Given the description of an element on the screen output the (x, y) to click on. 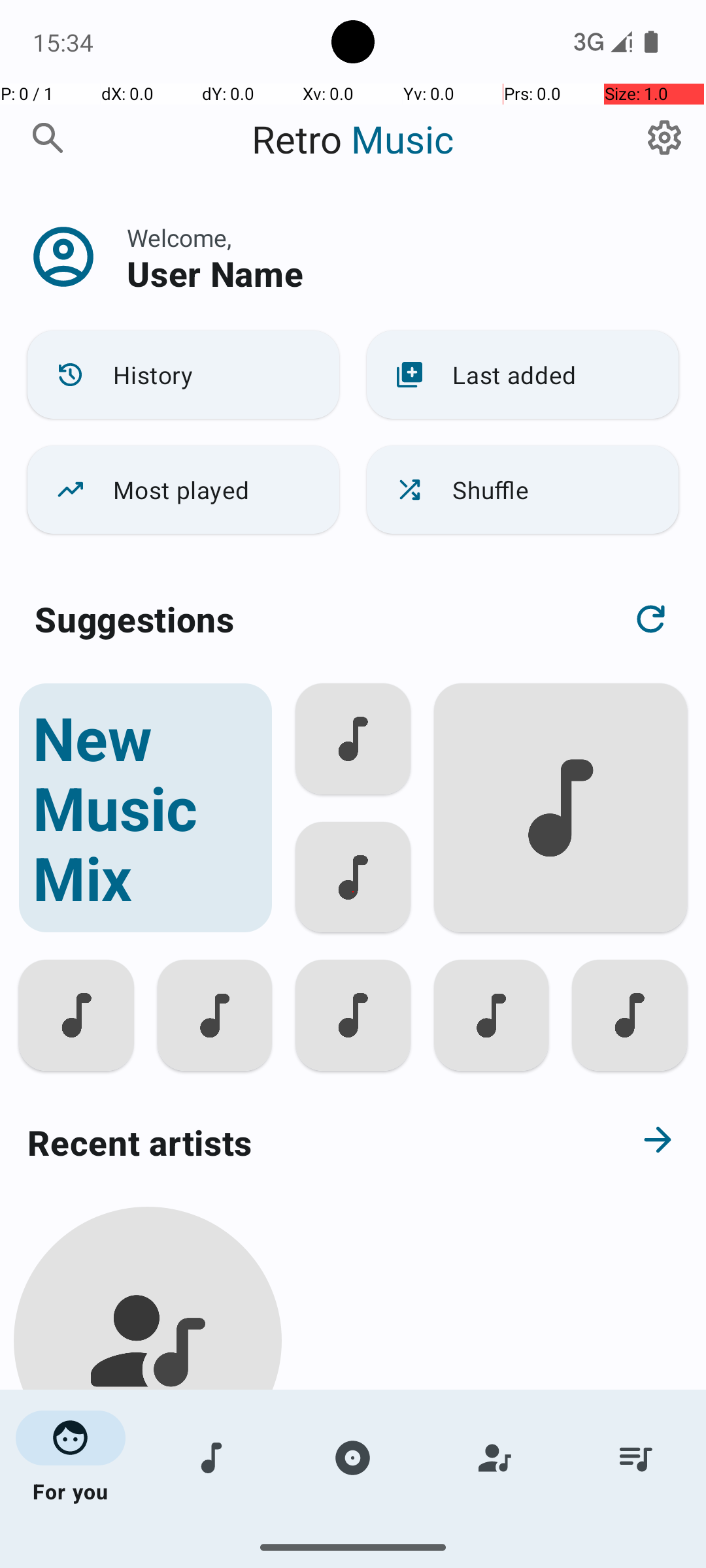
Welcome, Element type: android.widget.TextView (179, 237)
User Name Element type: android.widget.TextView (214, 273)
Most played Element type: android.widget.Button (183, 489)
Suggestions Element type: android.widget.TextView (134, 618)
New Music Mix Element type: android.widget.TextView (144, 807)
Recent artists Element type: android.widget.TextView (304, 1141)
Recent albums Element type: android.widget.TextView (304, 1557)
Luka Element type: android.widget.TextView (147, 1503)
